Given the description of an element on the screen output the (x, y) to click on. 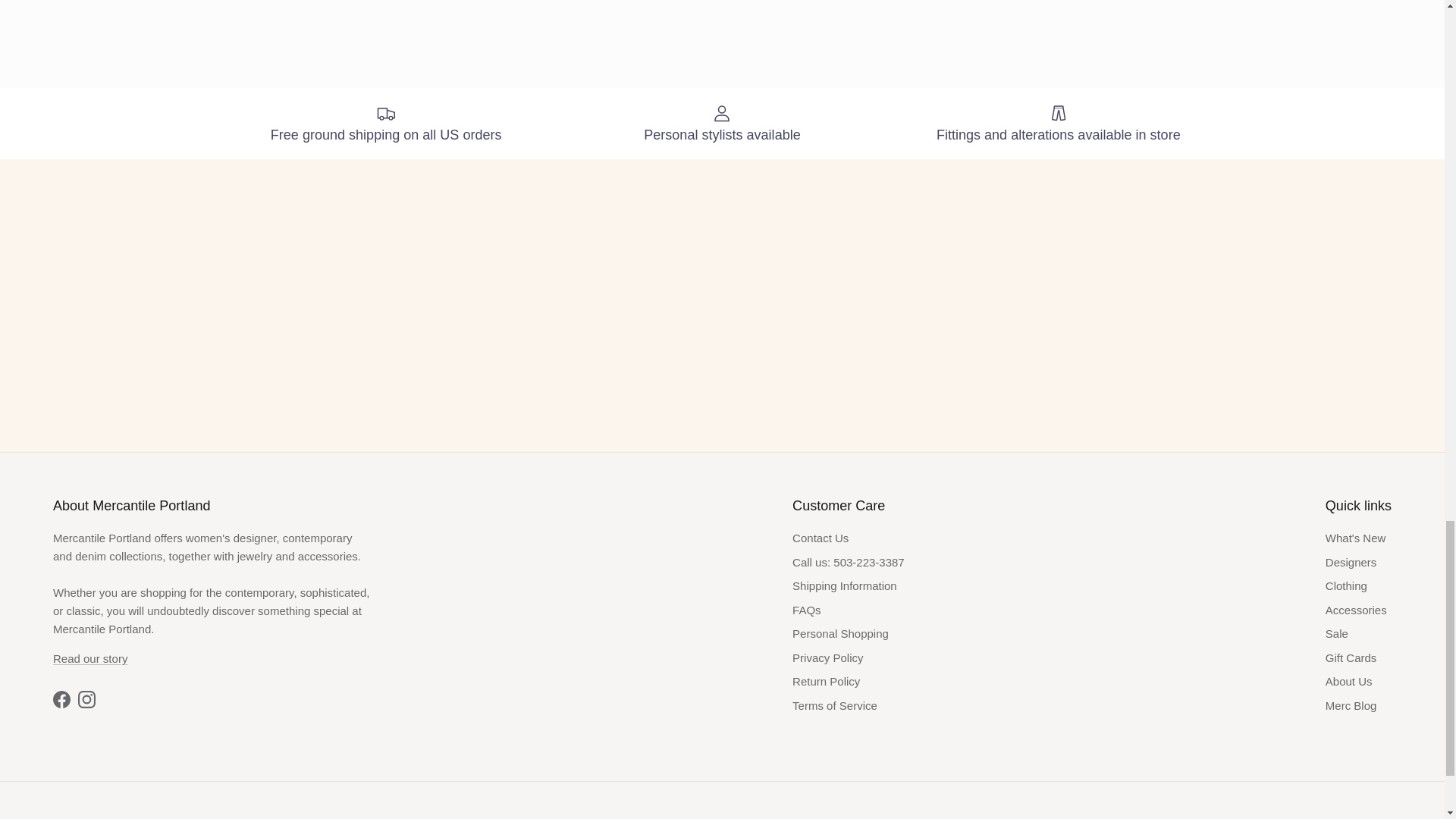
Mercantile Portland on Instagram (87, 699)
Mercantile Portland on Facebook (60, 699)
ABOUT US (90, 658)
